Given the description of an element on the screen output the (x, y) to click on. 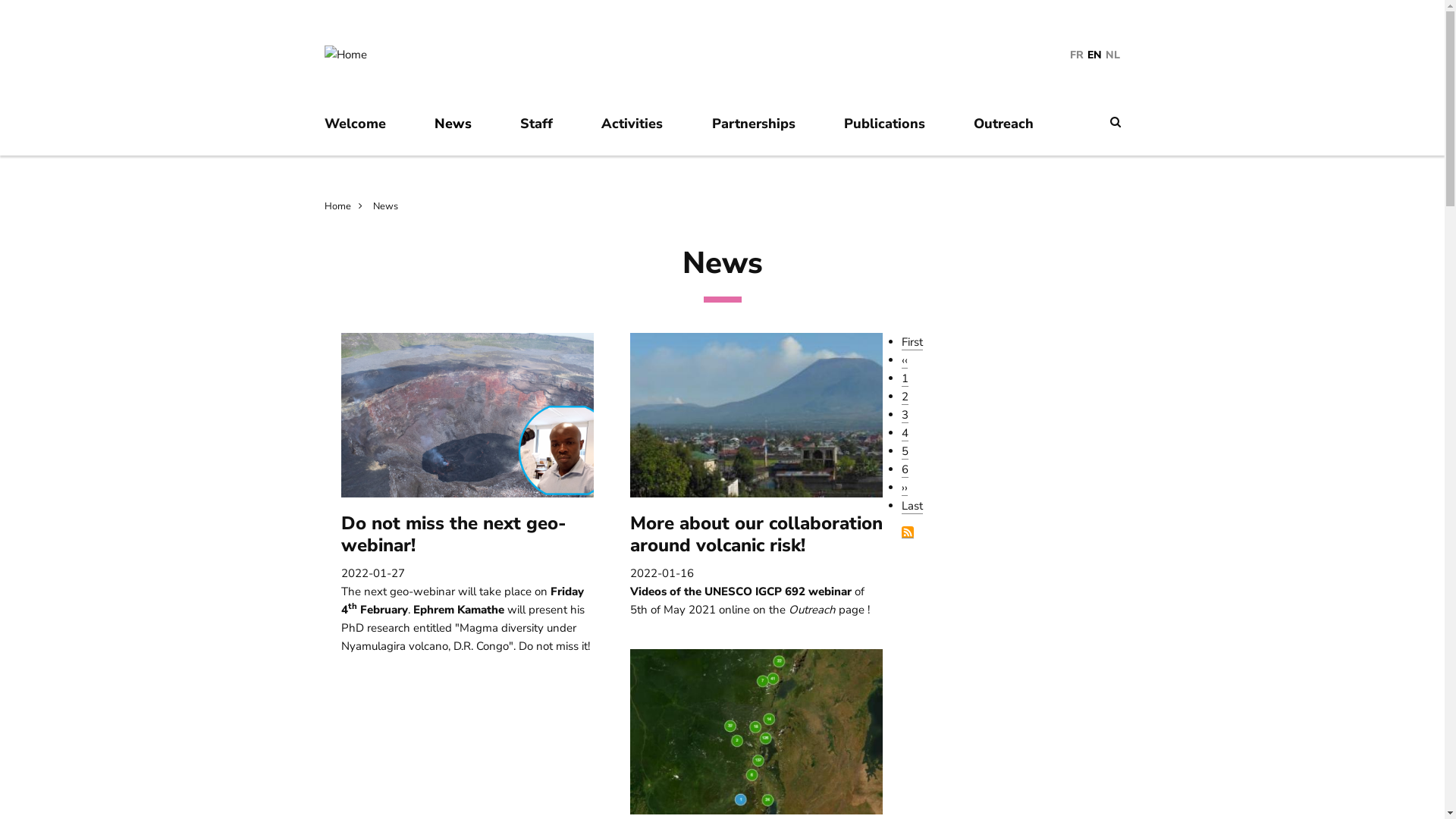
Skip to main content Element type: text (0, 30)
Outreach Element type: text (1010, 132)
Search Element type: text (1115, 121)
Page
1 Element type: text (904, 378)
News Element type: text (460, 132)
Publications Element type: text (892, 132)
Activities Element type: text (639, 132)
Page
2 Element type: text (904, 396)
First page
First Element type: text (911, 342)
Page
4 Element type: text (904, 433)
Page
6 Element type: text (904, 469)
Last page
Last Element type: text (911, 506)
Home Element type: text (347, 206)
FR Element type: text (1076, 55)
Partnerships Element type: text (761, 132)
News Element type: text (385, 206)
Staff Element type: text (543, 132)
EN Element type: text (1094, 55)
Page
5 Element type: text (904, 451)
NL Element type: text (1112, 55)
Current page
3 Element type: text (904, 415)
Subscribe to Georiska news Element type: text (907, 532)
Welcome Element type: text (362, 132)
